Given the description of an element on the screen output the (x, y) to click on. 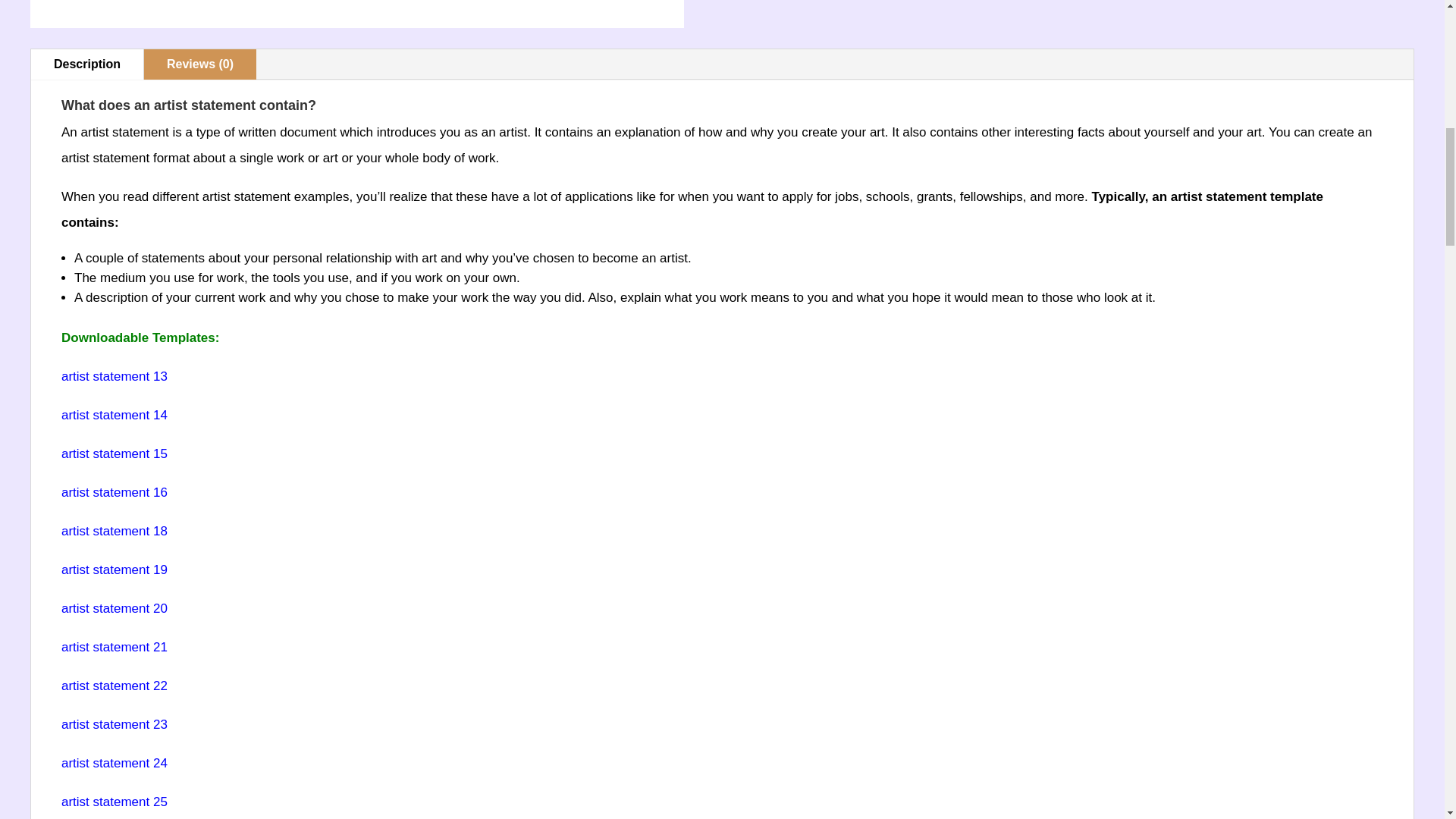
artist statement 16 (114, 492)
artist statement 14 (114, 414)
artist statement 18 (114, 531)
artist statement 15 (114, 453)
Description (86, 64)
artist statement 13 (114, 376)
artist statement 19 (114, 569)
artist statement 20 (114, 608)
